Given the description of an element on the screen output the (x, y) to click on. 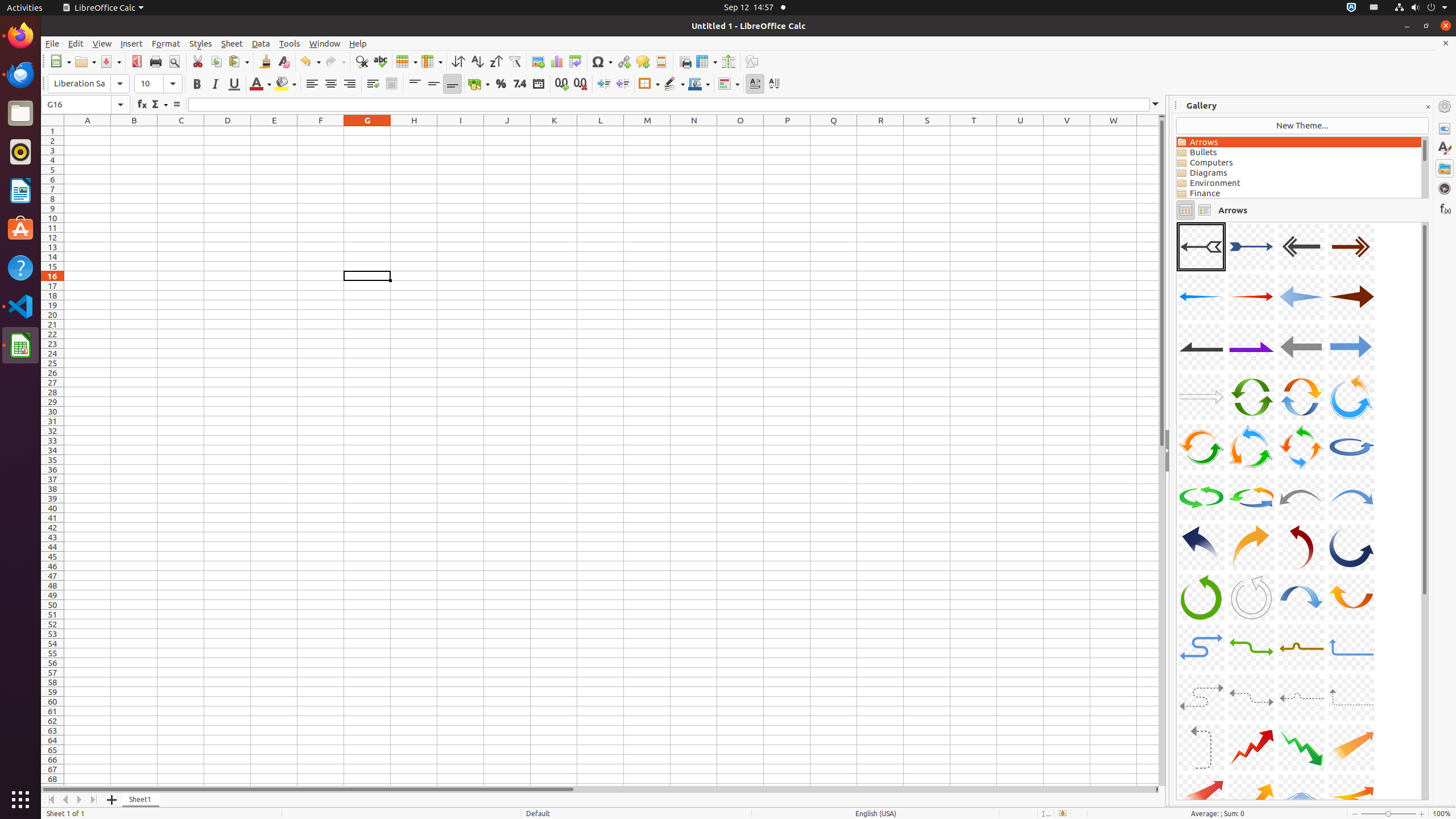
A34-CurvedArrow-Green-TwoDirections Element type: list-item (1250, 646)
A02-Arrow-DarkBlue-Right Element type: list-item (1250, 246)
Spelling Element type: push-button (379, 61)
Formula Element type: push-button (176, 104)
Freeze Rows and Columns Element type: push-button (705, 61)
